Given the description of an element on the screen output the (x, y) to click on. 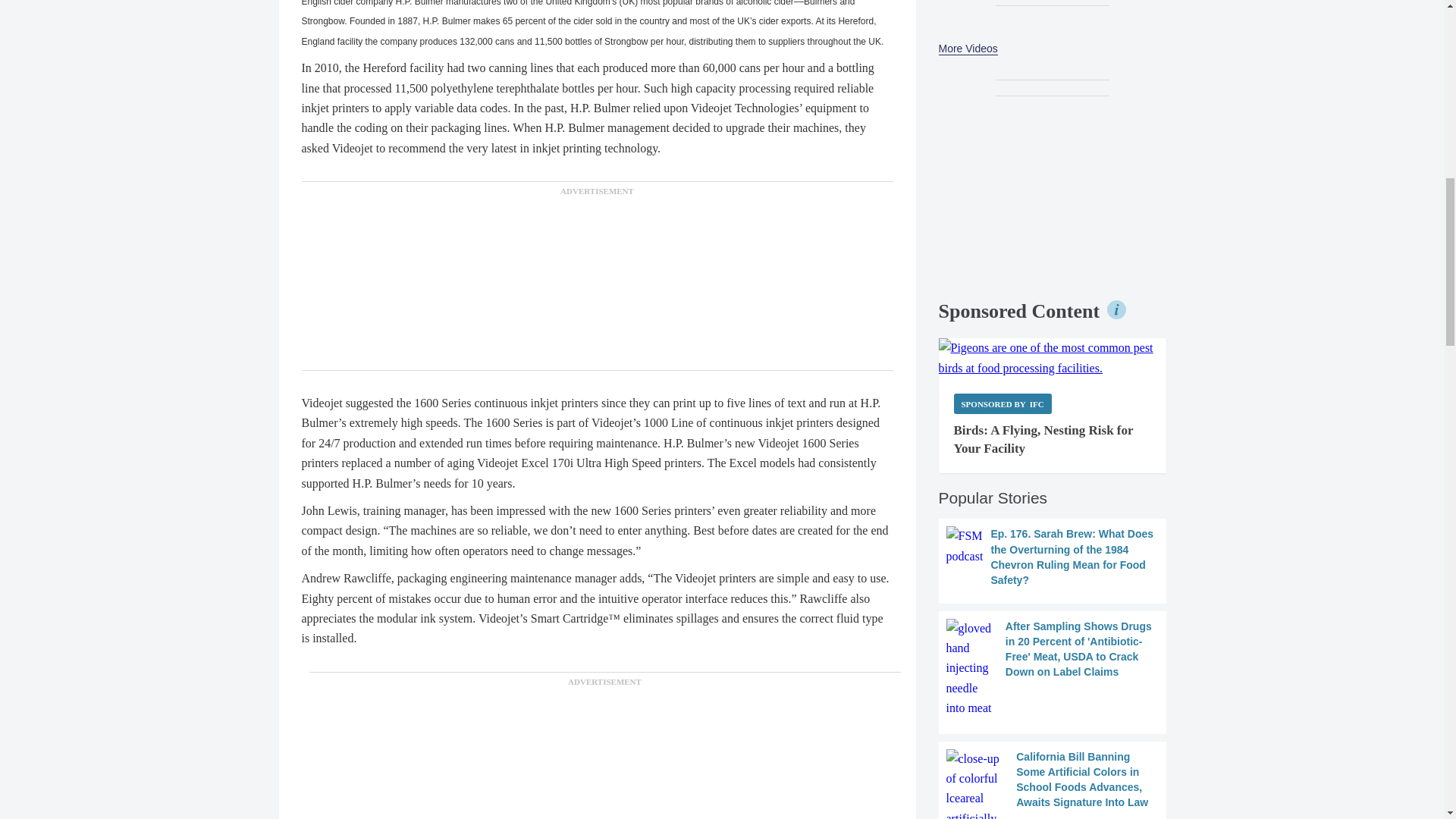
Sponsored by IFC (1002, 403)
